Given the description of an element on the screen output the (x, y) to click on. 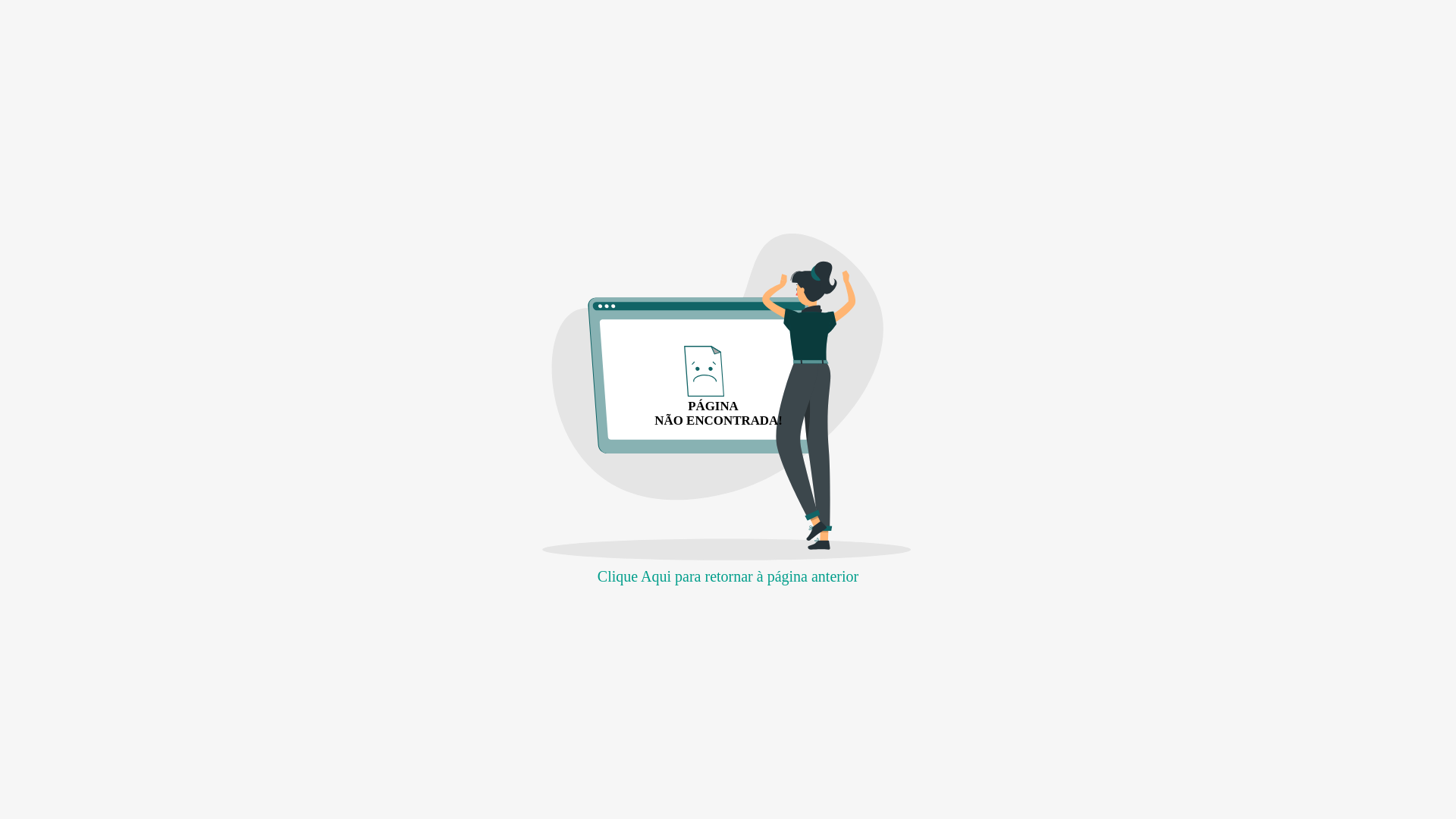
Contatos Element type: text (727, 22)
Sistemas Element type: text (826, 657)
(21) 3938-6701 Element type: text (667, 657)
decano@ccsdecania.ufrj.br Element type: text (667, 598)
Equipe Element type: text (667, 627)
